Given the description of an element on the screen output the (x, y) to click on. 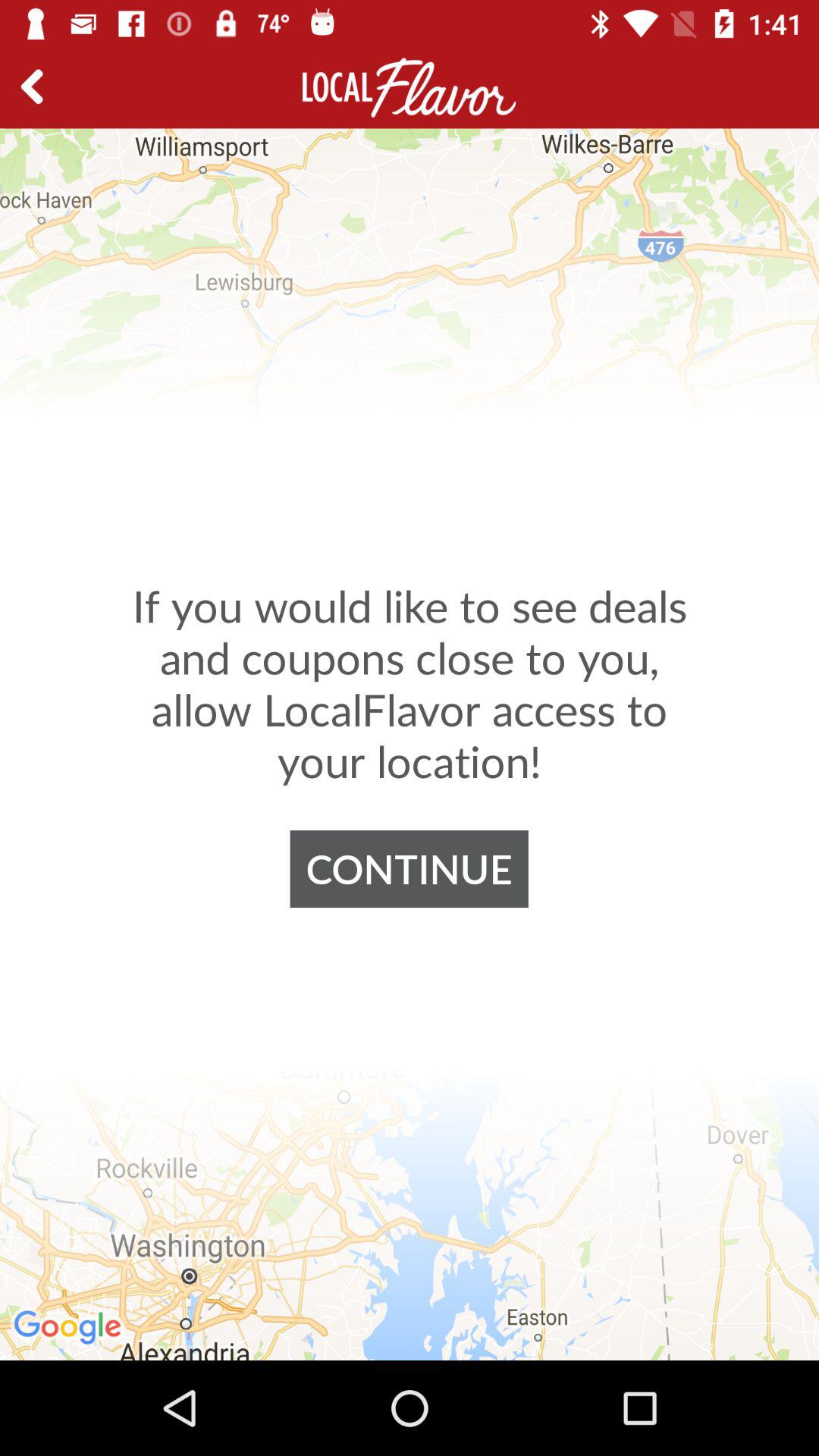
flip until continue icon (409, 868)
